Given the description of an element on the screen output the (x, y) to click on. 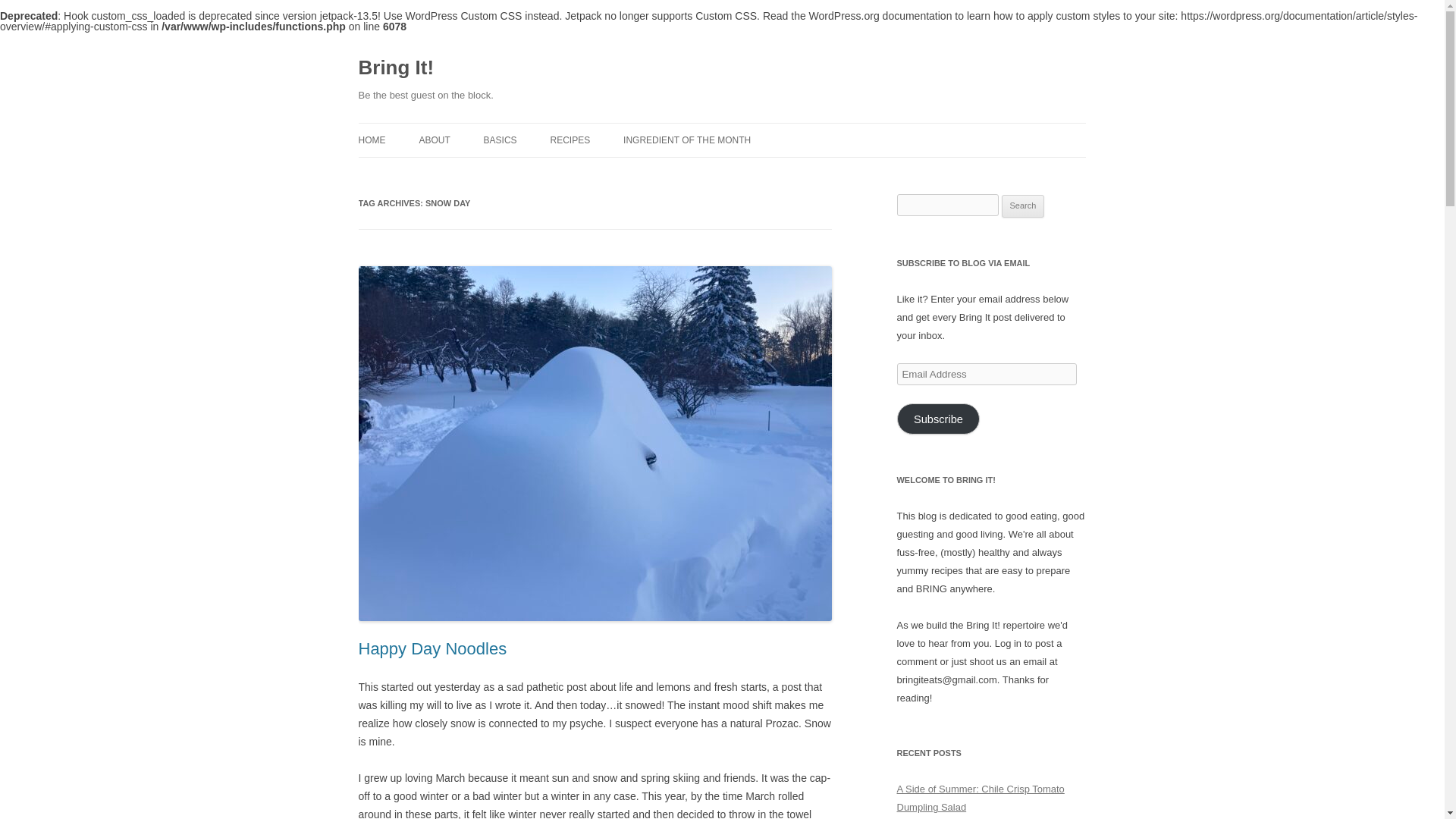
BASICS (499, 140)
ABOUT (434, 140)
GOOD GUESTING (558, 172)
Bring It! (395, 67)
Happy Day Noodles (432, 648)
BREAKFASTY (625, 172)
Search (1023, 205)
HOME (371, 140)
INGREDIENT OF THE MONTH (687, 140)
RECIPES (569, 140)
MAY (698, 172)
